Given the description of an element on the screen output the (x, y) to click on. 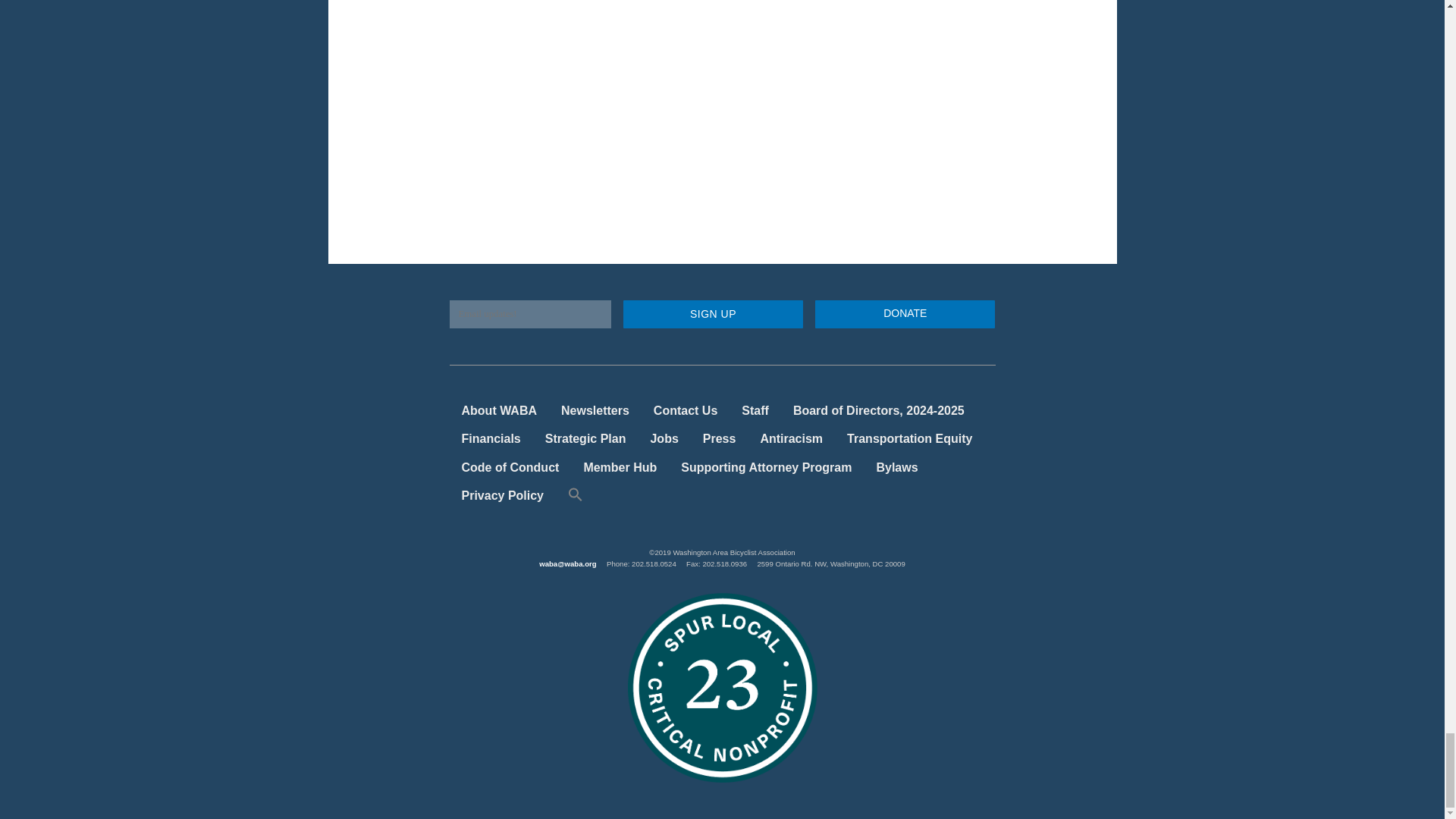
Email (529, 314)
Sign Up (713, 314)
